Given the description of an element on the screen output the (x, y) to click on. 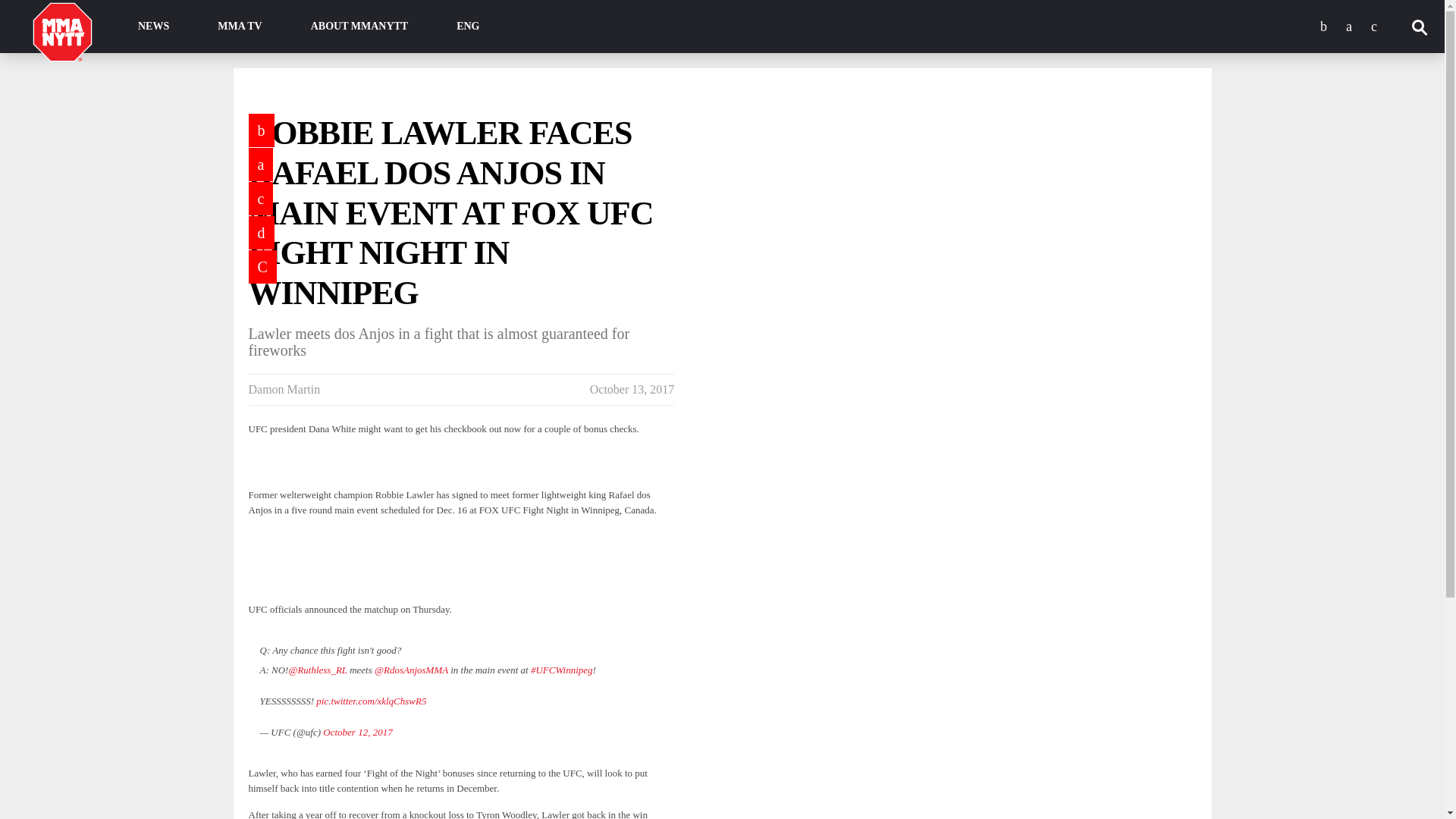
MMA TV (239, 26)
About MMAnytt (359, 26)
News (153, 26)
ENG (467, 26)
ABOUT MMANYTT (359, 26)
MMA TV (239, 26)
NEWS (153, 26)
Damon Martin (284, 389)
Posts by Damon Martin (284, 389)
ENG (467, 26)
